Given the description of an element on the screen output the (x, y) to click on. 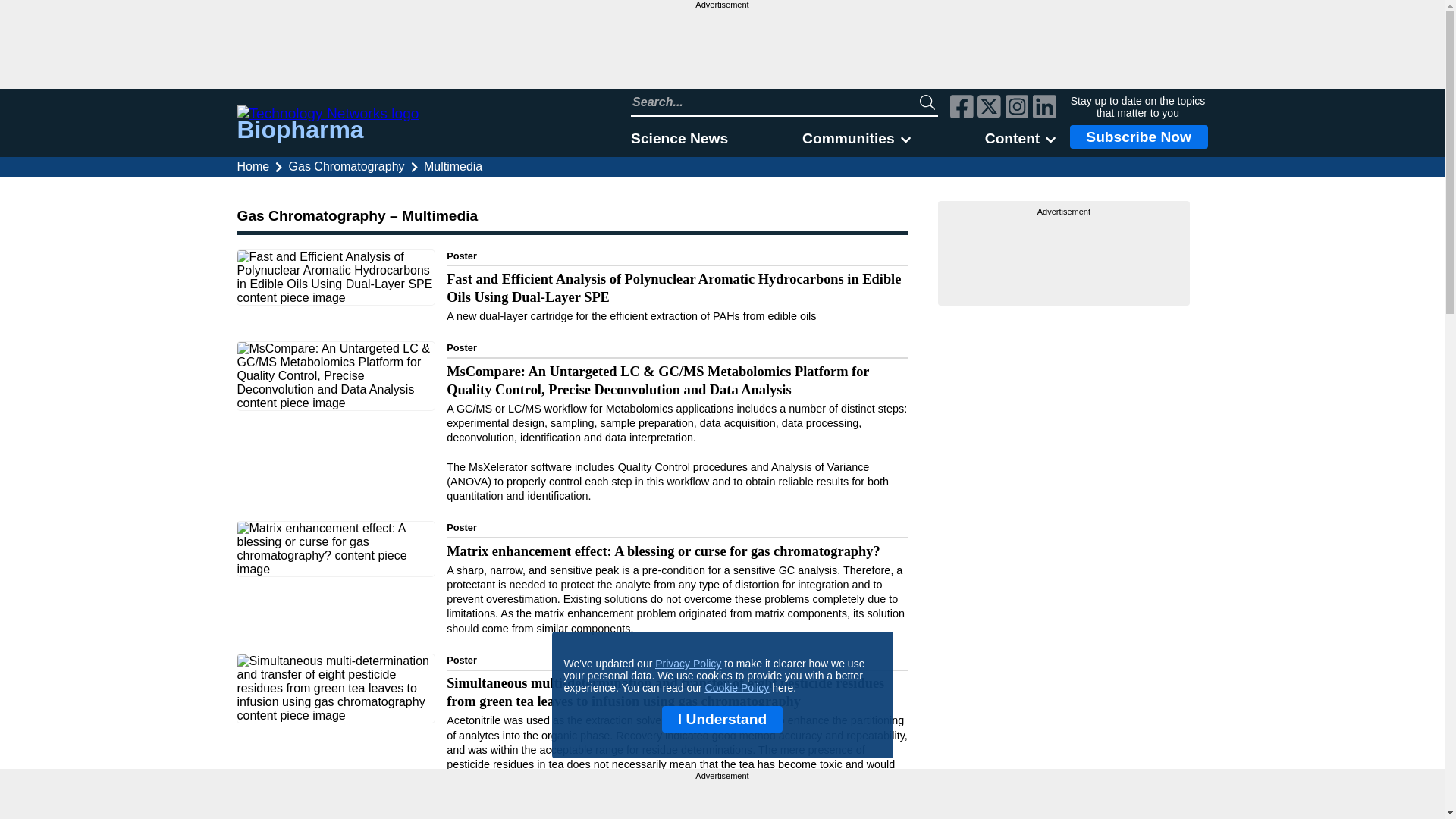
Technology Networks logo (327, 113)
I Understand (722, 718)
Cookie Policy (737, 687)
Privacy Policy (687, 663)
Search Technology Networks website input field (775, 102)
